Given the description of an element on the screen output the (x, y) to click on. 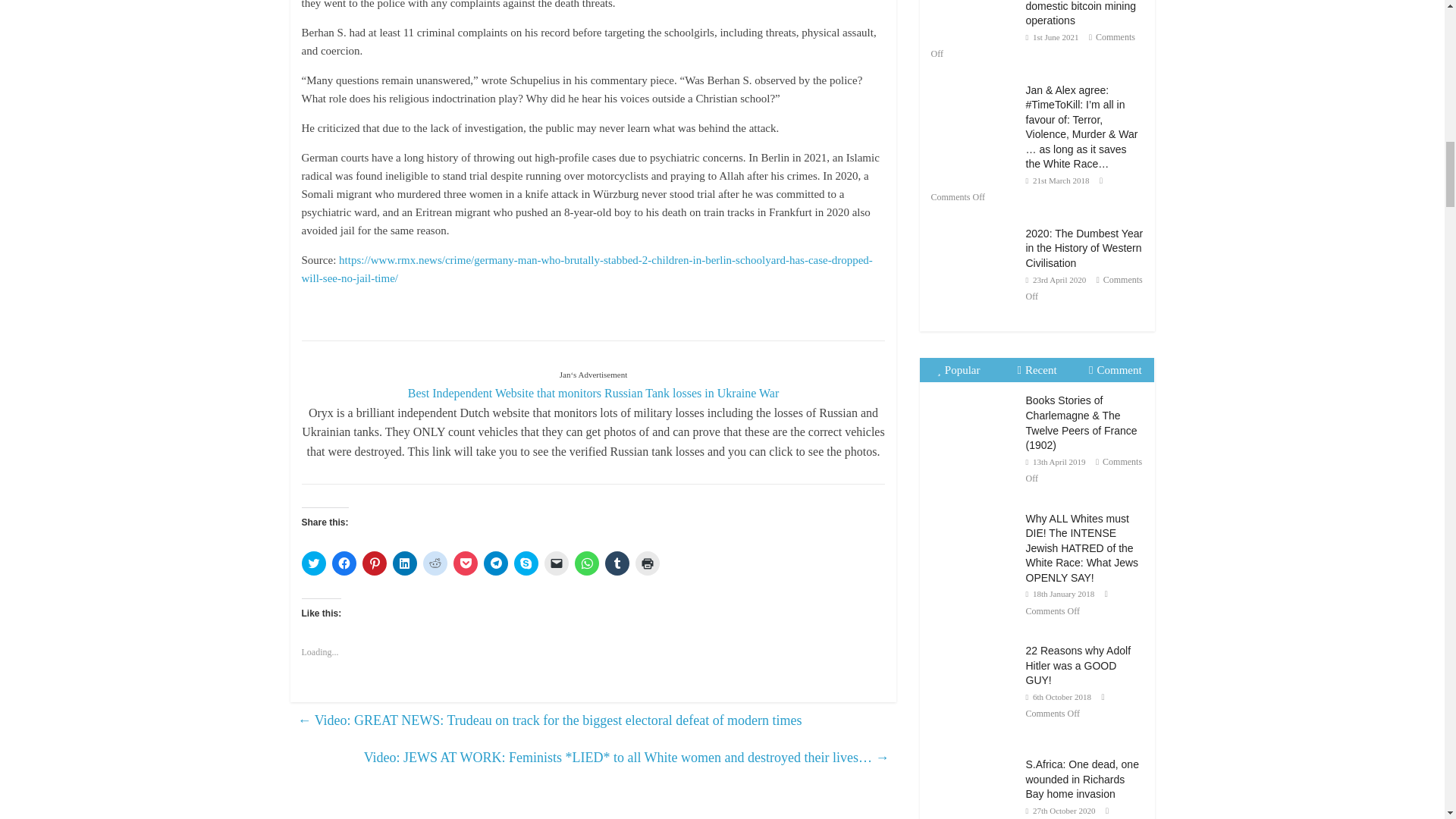
Click to share on Pinterest (374, 563)
Click to share on LinkedIn (404, 563)
Click to share on Telegram (495, 563)
Click to share on Reddit (434, 563)
Click to share on Twitter (313, 563)
Click to share on Facebook (343, 563)
Click to share on Pocket (464, 563)
